Given the description of an element on the screen output the (x, y) to click on. 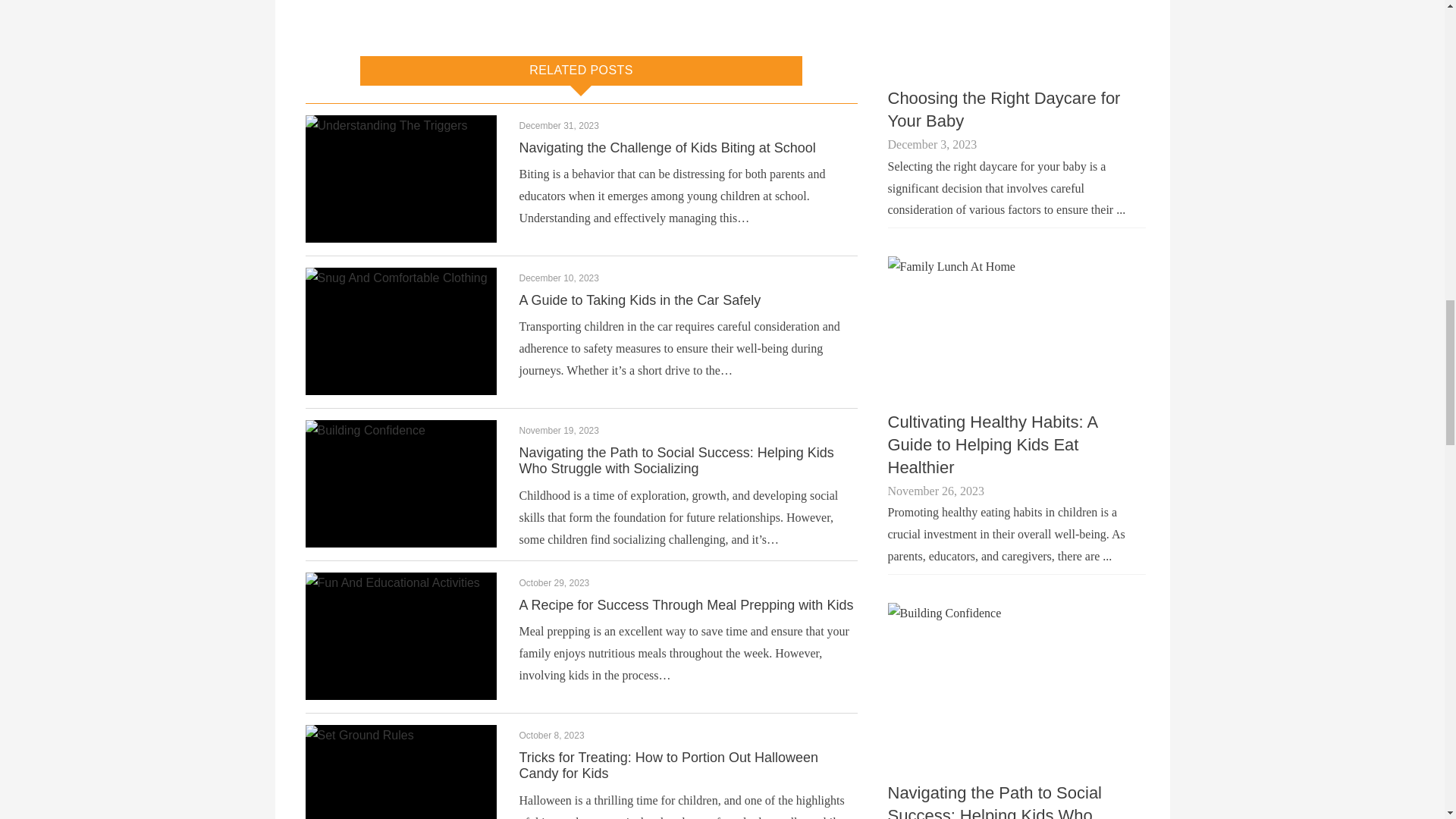
A Recipe for Success Through Meal Prepping with Kids (685, 604)
Navigating the Challenge of Kids Biting at School (666, 147)
A Guide to Taking Kids in the Car Safely (639, 299)
